Given the description of an element on the screen output the (x, y) to click on. 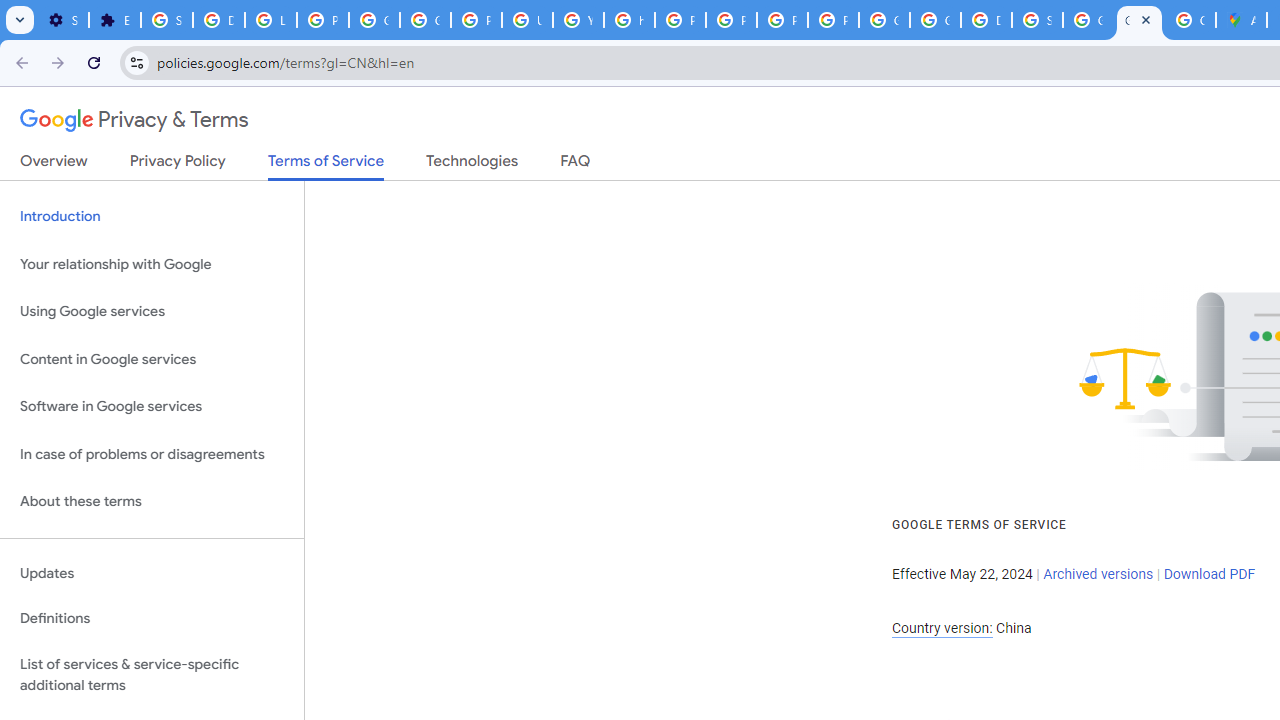
Country version: (942, 628)
